Given the description of an element on the screen output the (x, y) to click on. 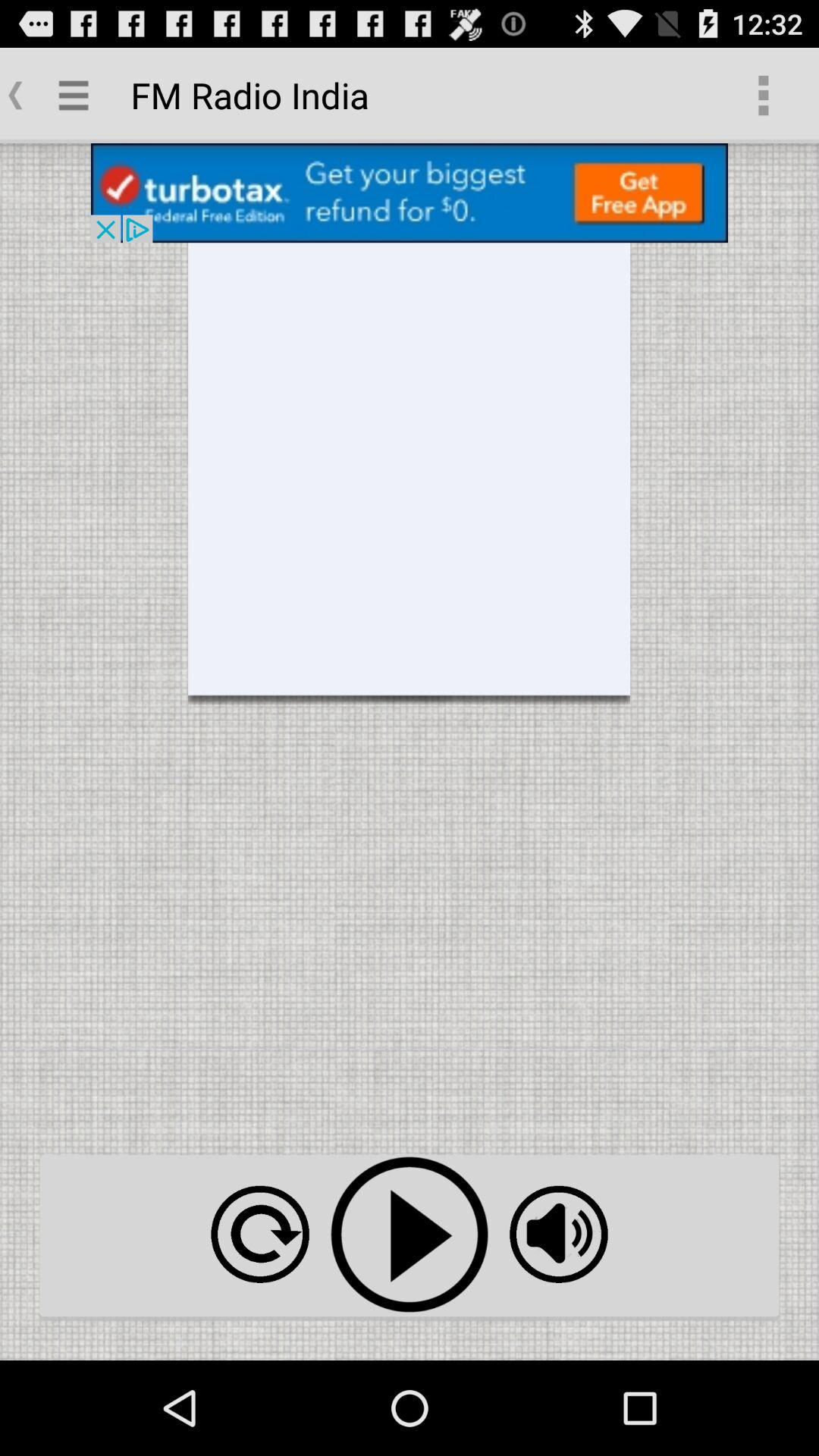
sound control (558, 1234)
